Given the description of an element on the screen output the (x, y) to click on. 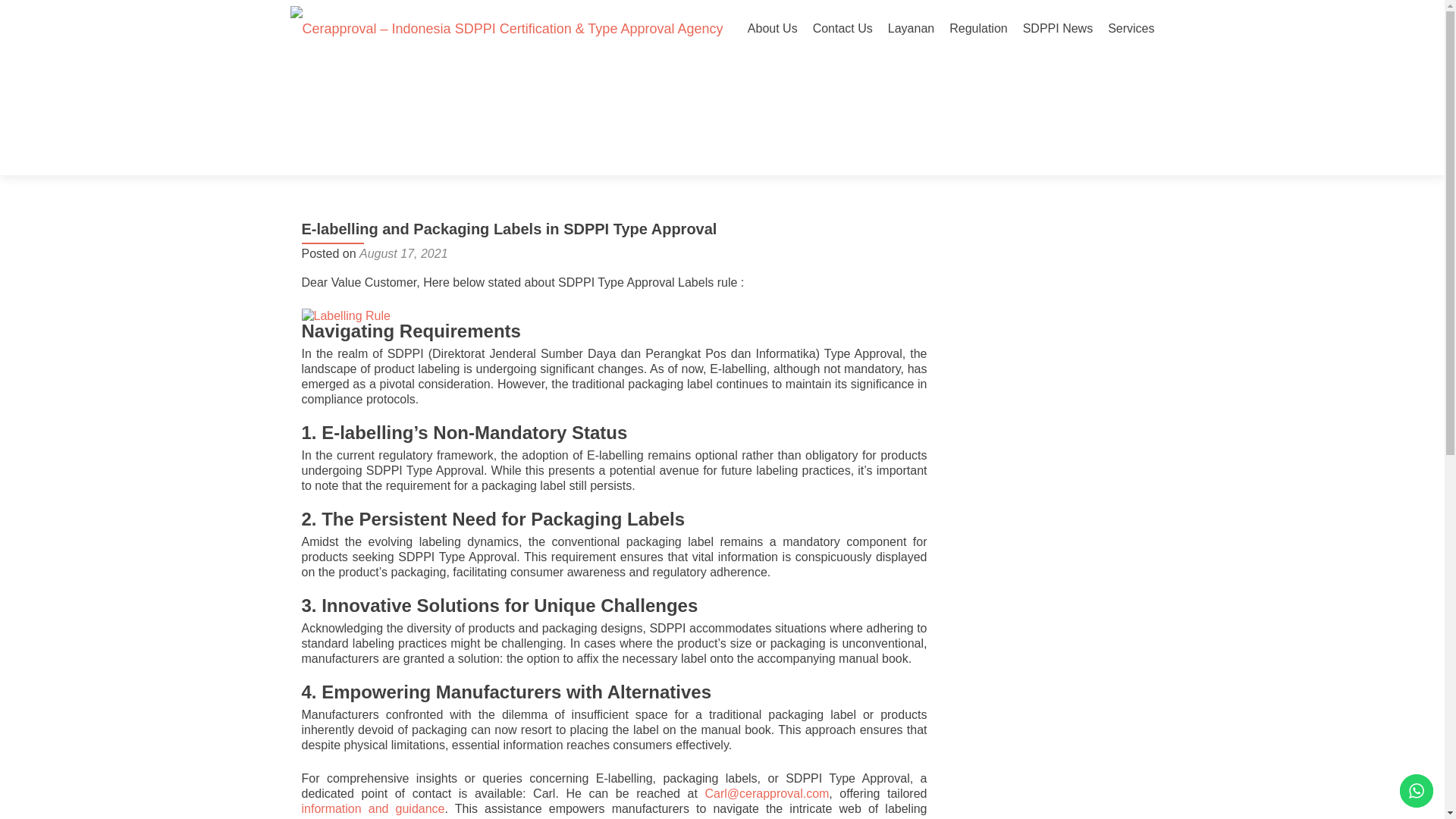
information and guidanc (369, 808)
Contact Us (842, 28)
Regulation (978, 28)
Layanan (911, 28)
August 17, 2021 (403, 253)
SDPPI News (1058, 28)
Services (1131, 28)
About Us (772, 28)
